Given the description of an element on the screen output the (x, y) to click on. 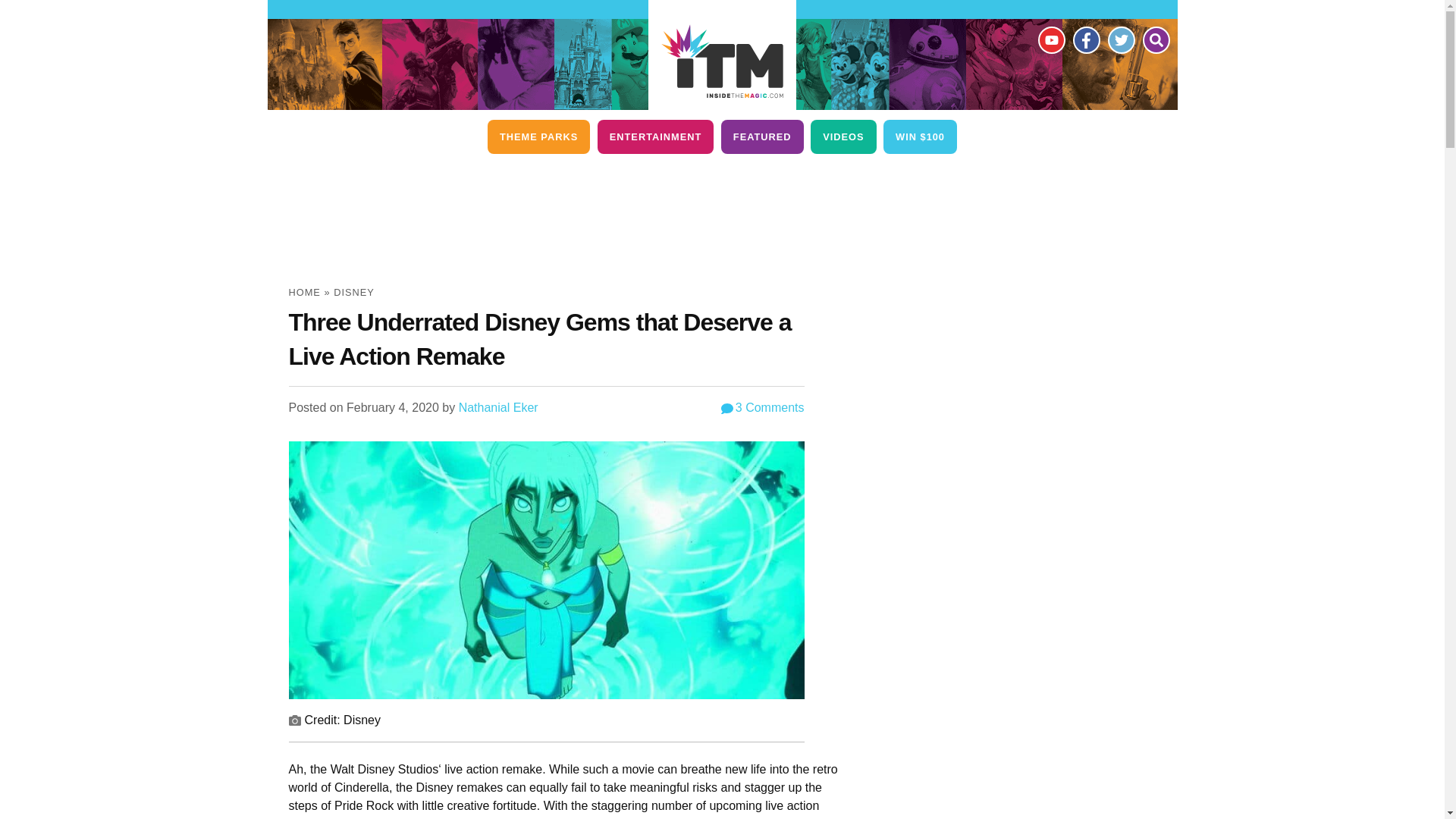
Twitter (1120, 40)
THEME PARKS (538, 136)
Facebook (1085, 40)
Search (1155, 40)
YouTube (1050, 40)
FEATURED (761, 136)
ENTERTAINMENT (655, 136)
